Given the description of an element on the screen output the (x, y) to click on. 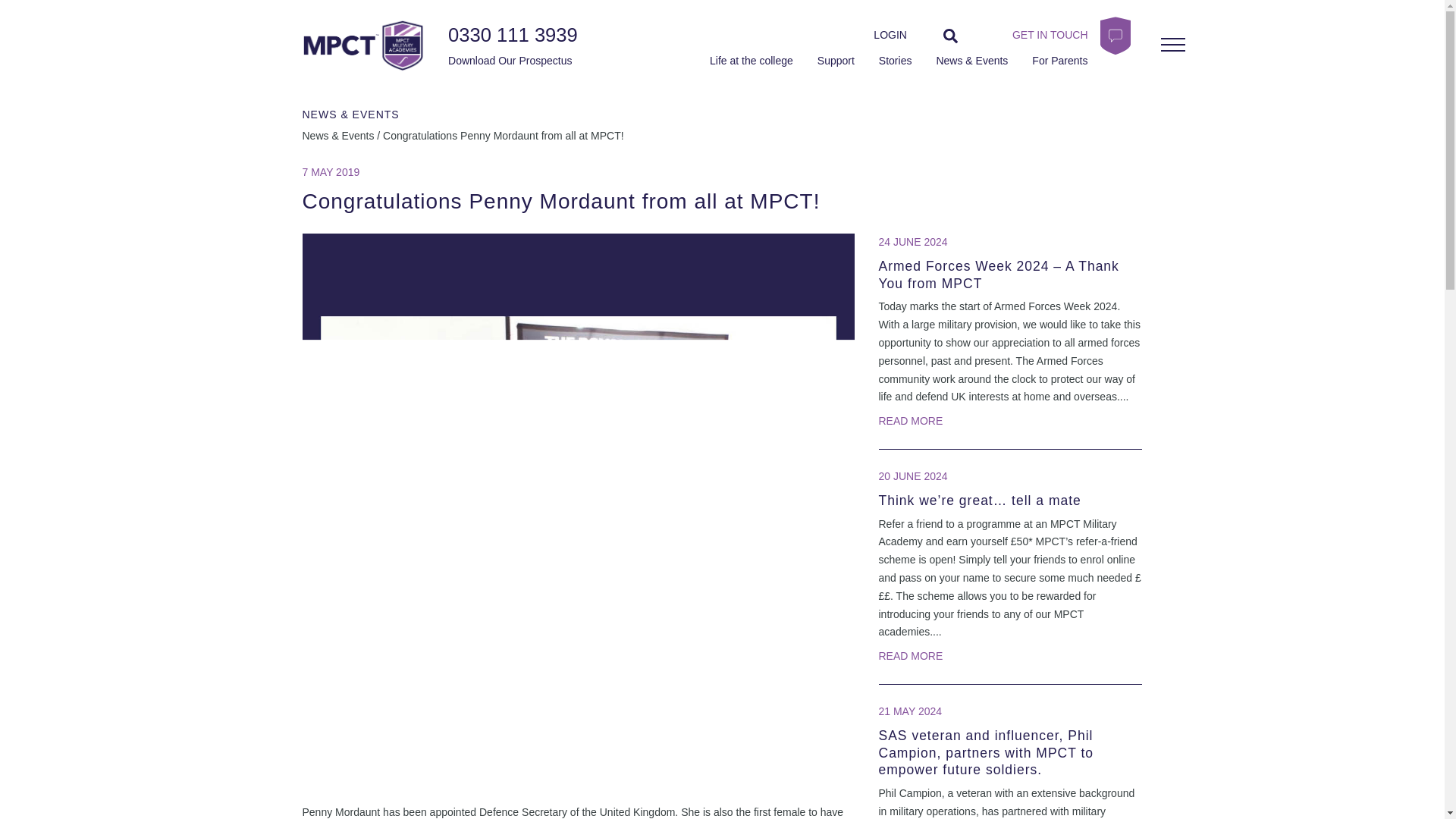
GET IN TOUCH (1040, 35)
0330 111 3939 (513, 34)
LOGIN (890, 35)
For Parents (1059, 60)
Support (835, 60)
Stories (895, 60)
Life at the college (751, 60)
Download Our Prospectus (507, 61)
